Given the description of an element on the screen output the (x, y) to click on. 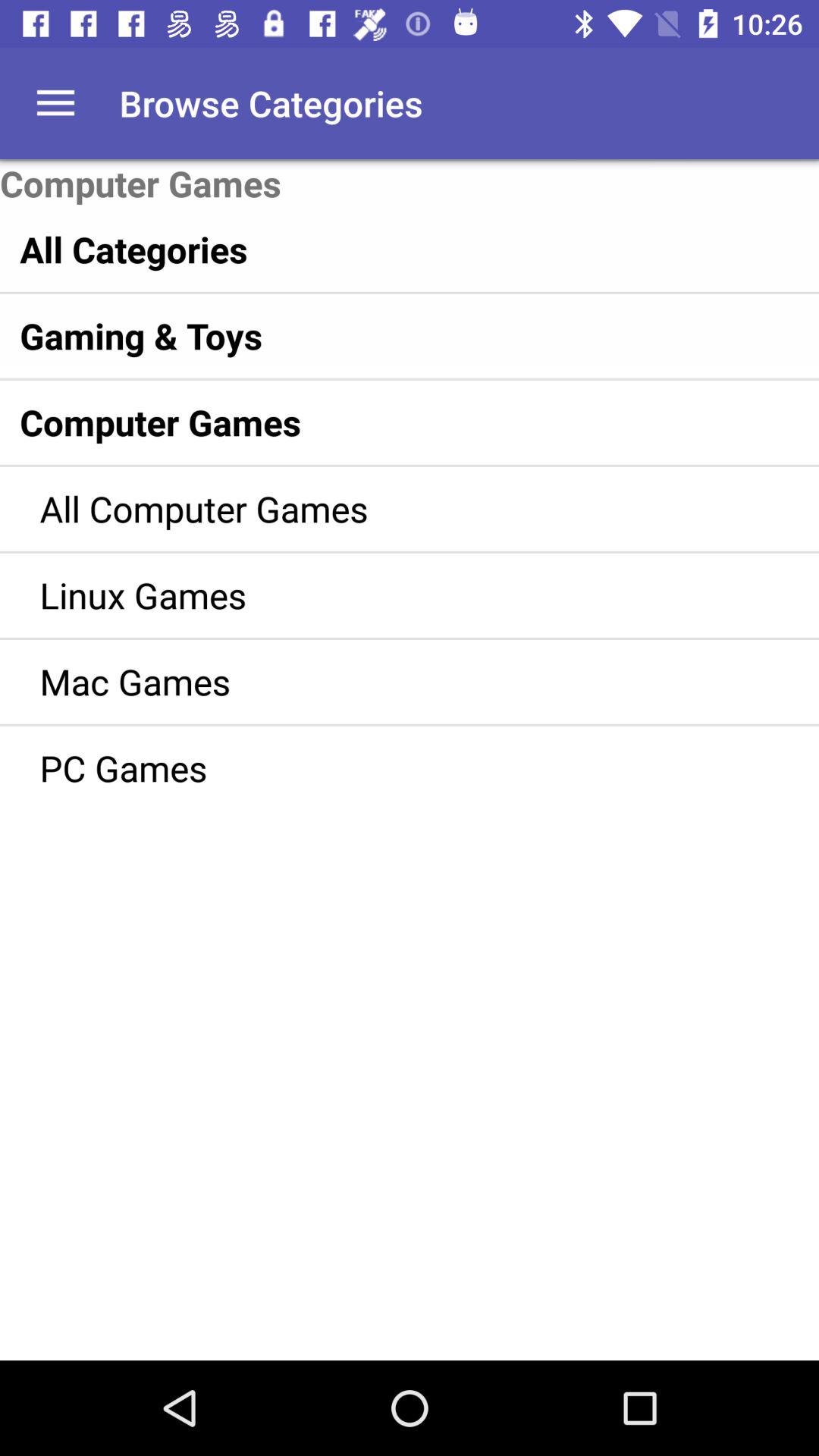
select linux games item (387, 595)
